Given the description of an element on the screen output the (x, y) to click on. 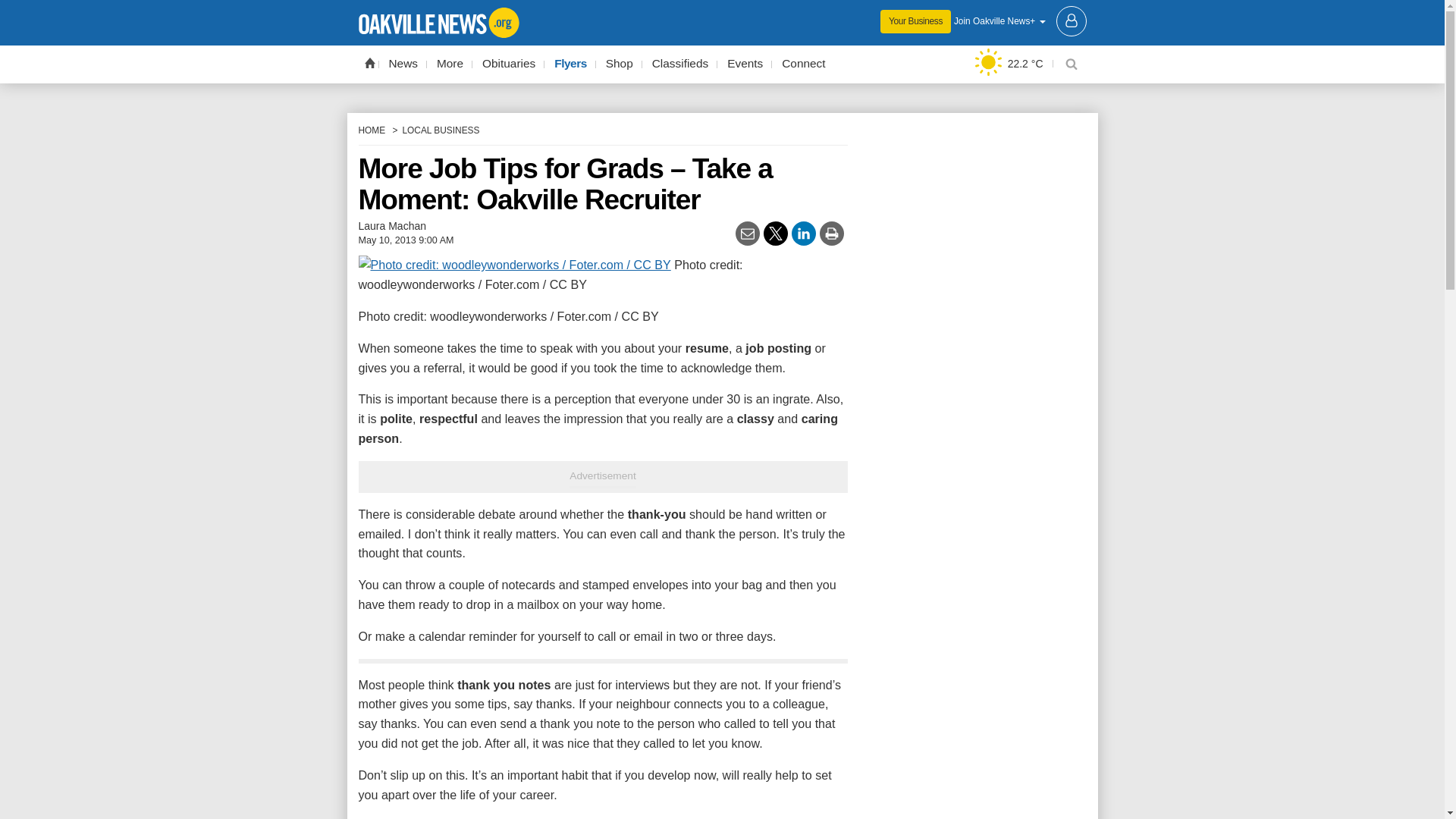
News (403, 64)
Your Business (915, 21)
Home (368, 62)
